Given the description of an element on the screen output the (x, y) to click on. 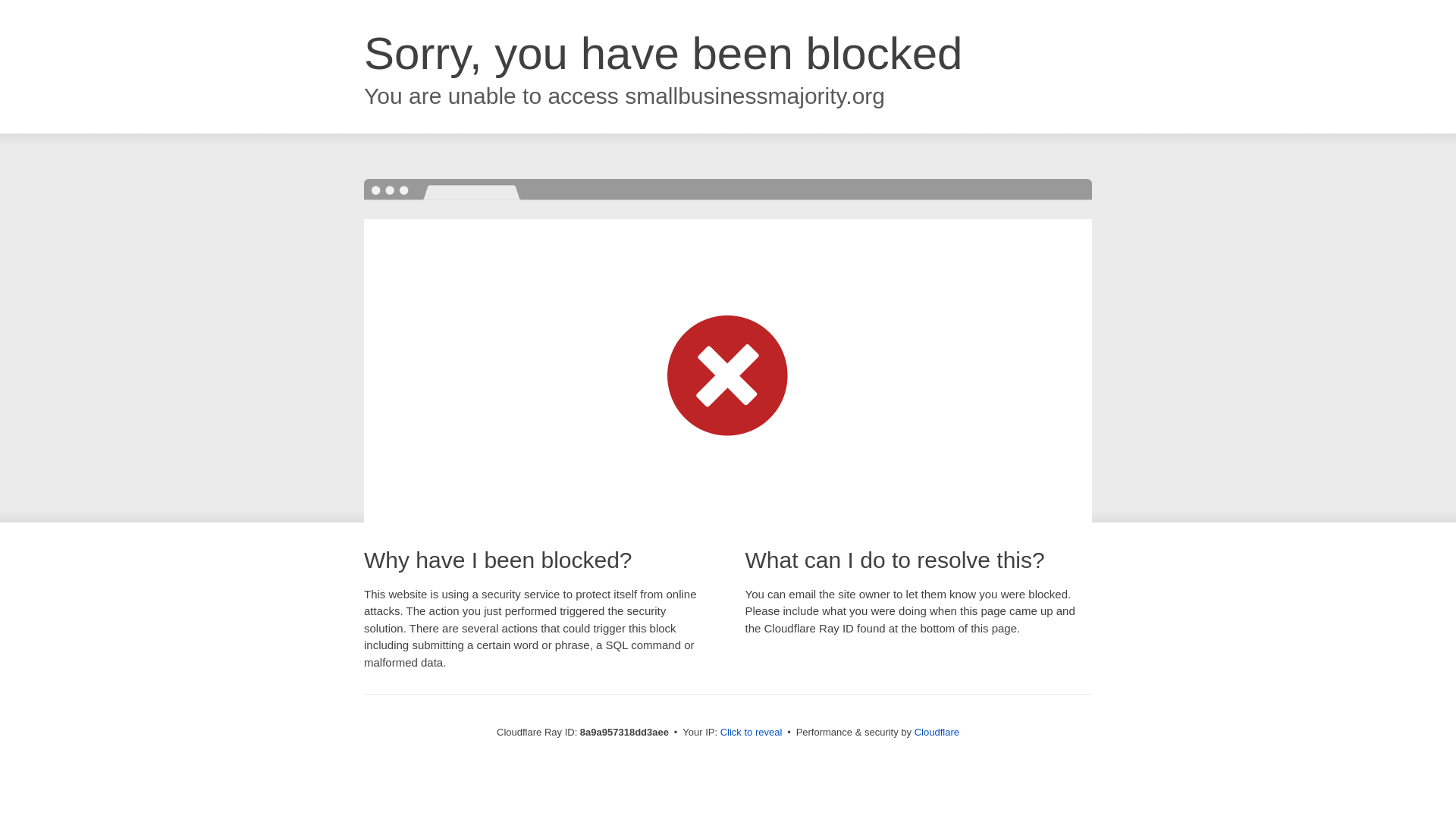
Cloudflare (936, 731)
Click to reveal (751, 732)
